Given the description of an element on the screen output the (x, y) to click on. 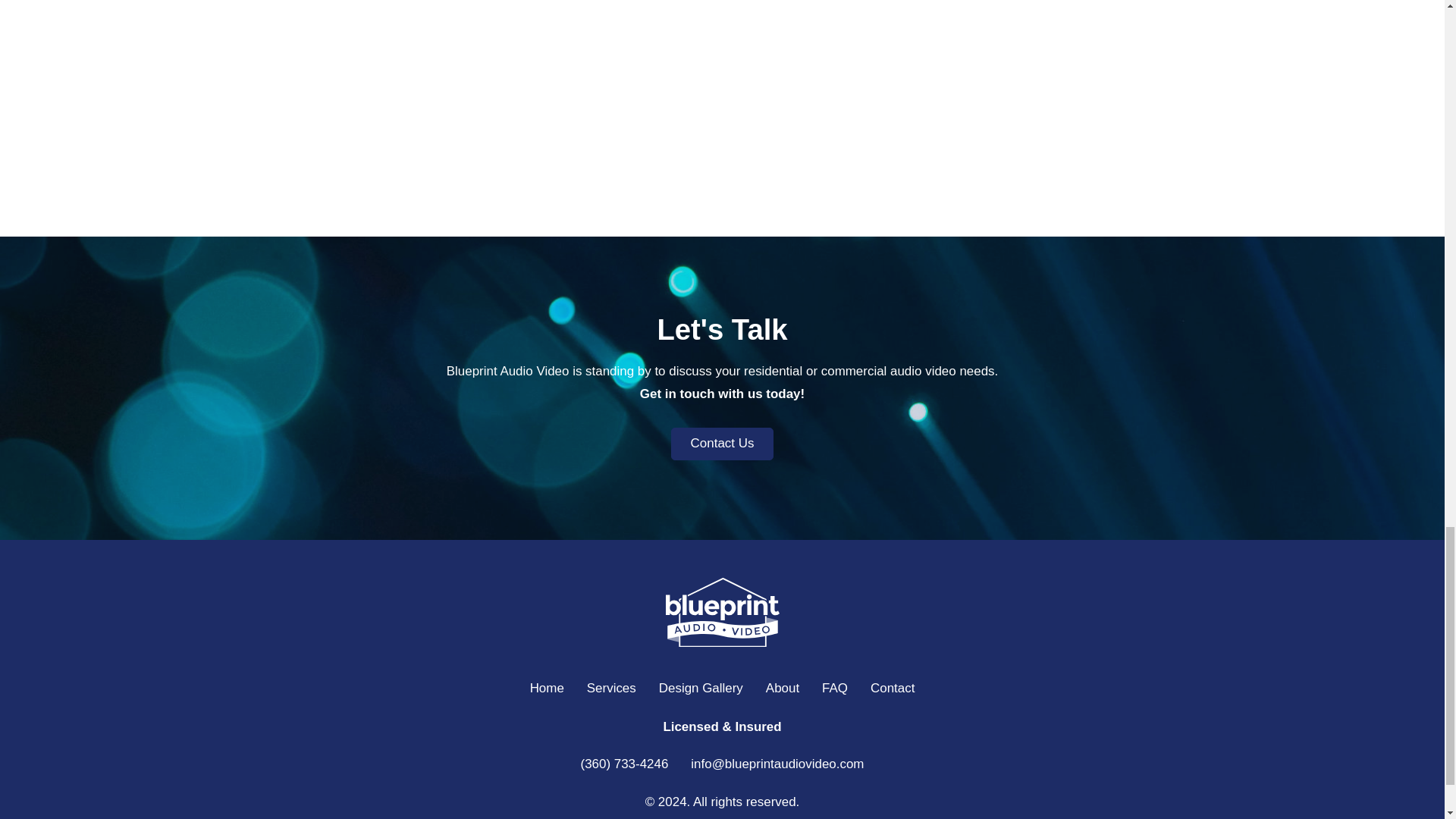
Design Gallery (700, 688)
FAQ (834, 688)
Services (611, 688)
Contact Us (722, 443)
Contact (892, 688)
About (782, 688)
Home (547, 688)
